Given the description of an element on the screen output the (x, y) to click on. 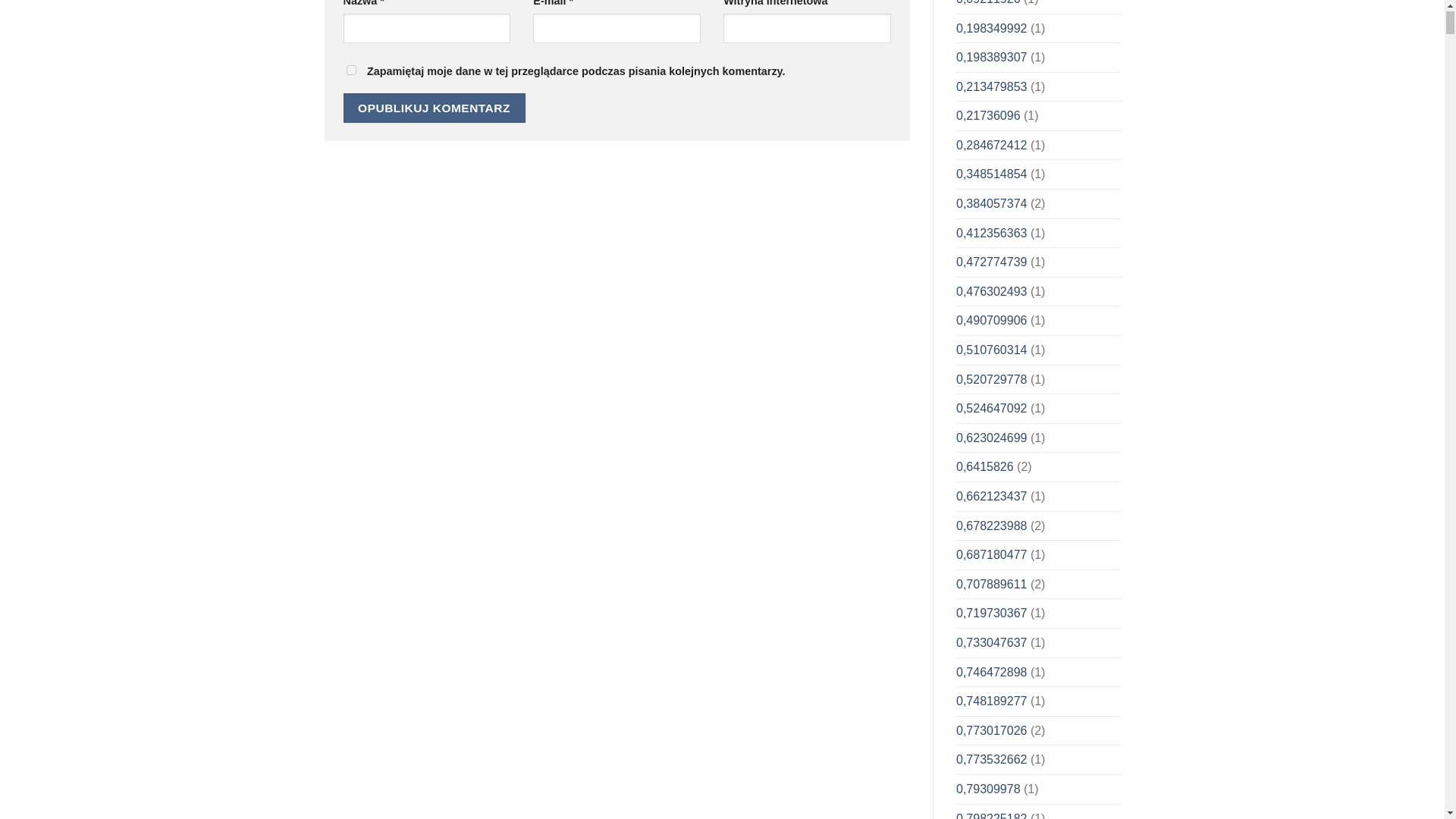
Opublikuj komentarz (433, 107)
yes (350, 70)
Opublikuj komentarz (433, 107)
